Given the description of an element on the screen output the (x, y) to click on. 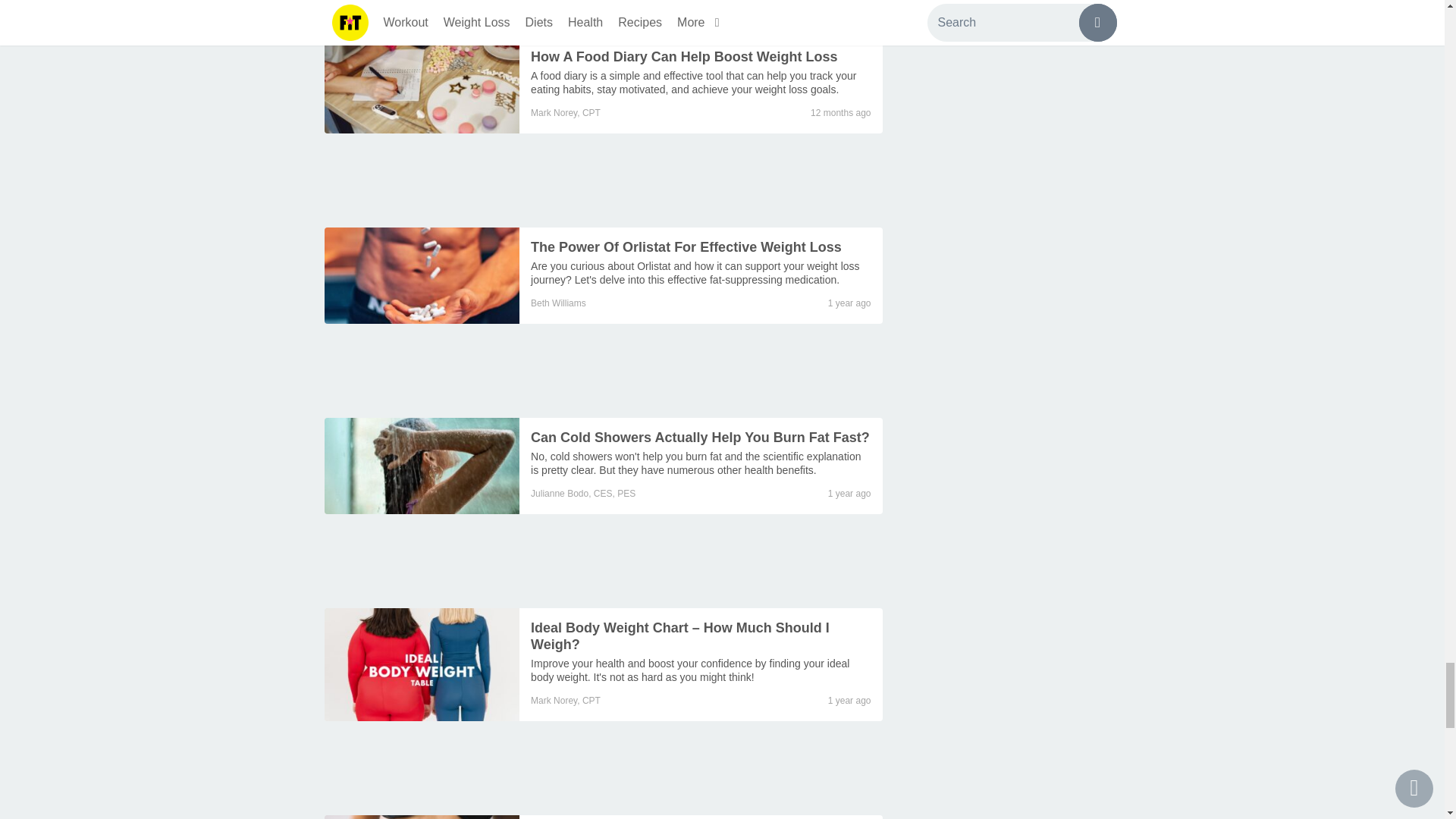
The Power Of Orlistat For Effective Weight Loss (421, 275)
The Power Of Orlistat For Effective Weight Loss (686, 246)
How A Food Diary Can Help Boost Weight Loss (693, 82)
The Power Of Orlistat For Effective Weight Loss (695, 272)
Can Cold Showers Actually Help You Burn Fat Fast? (421, 465)
How A Food Diary Can Help Boost Weight Loss (421, 84)
How A Food Diary Can Help Boost Weight Loss (684, 56)
Can Cold Showers Actually Help You Burn Fat Fast? (700, 437)
Can Cold Showers Actually Help You Burn Fat Fast? (695, 462)
